Given the description of an element on the screen output the (x, y) to click on. 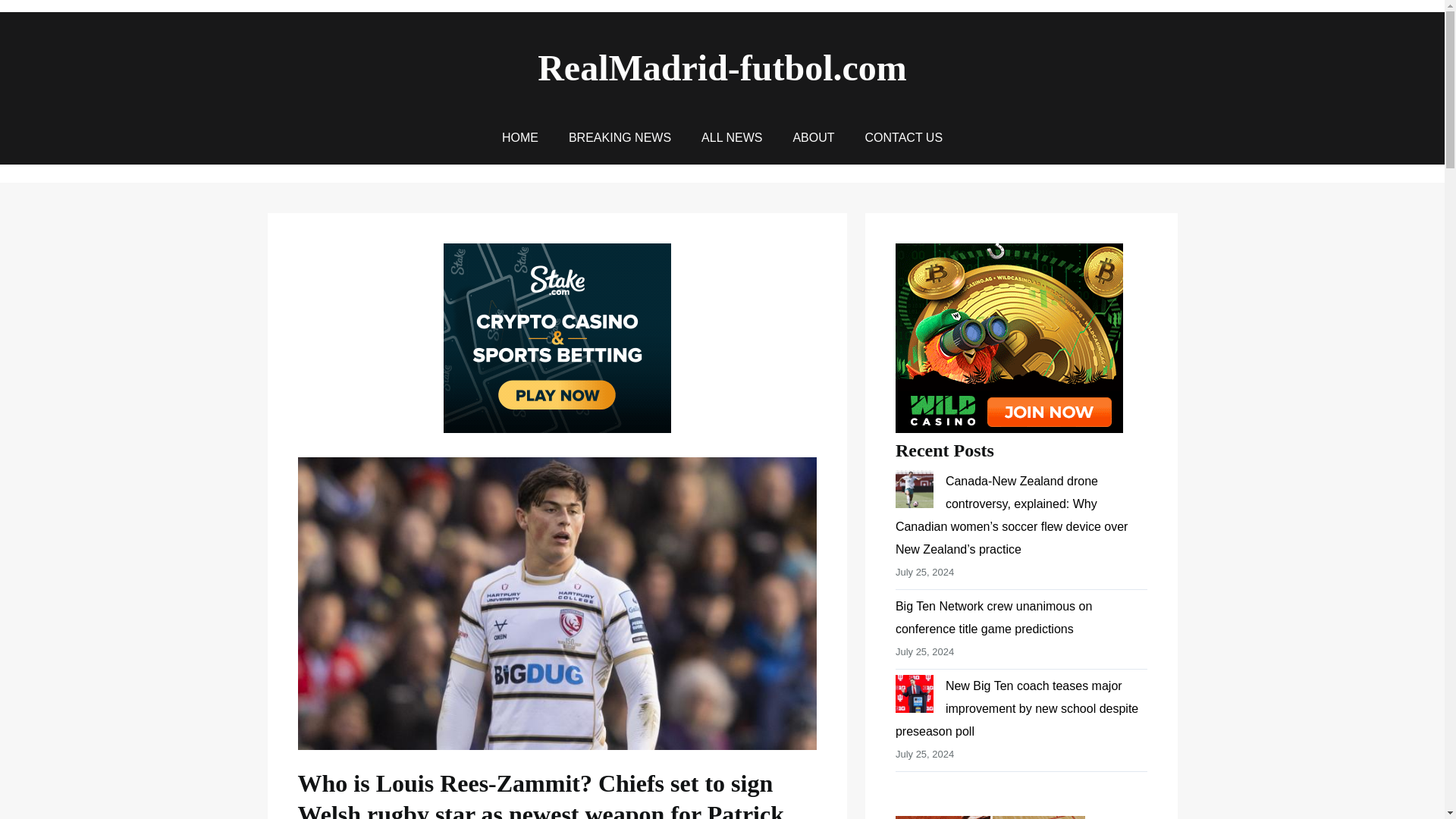
ALL NEWS (731, 137)
BREAKING NEWS (620, 137)
HOME (520, 137)
CONTACT US (903, 137)
ABOUT (813, 137)
RealMadrid-futbol.com (722, 67)
